Given the description of an element on the screen output the (x, y) to click on. 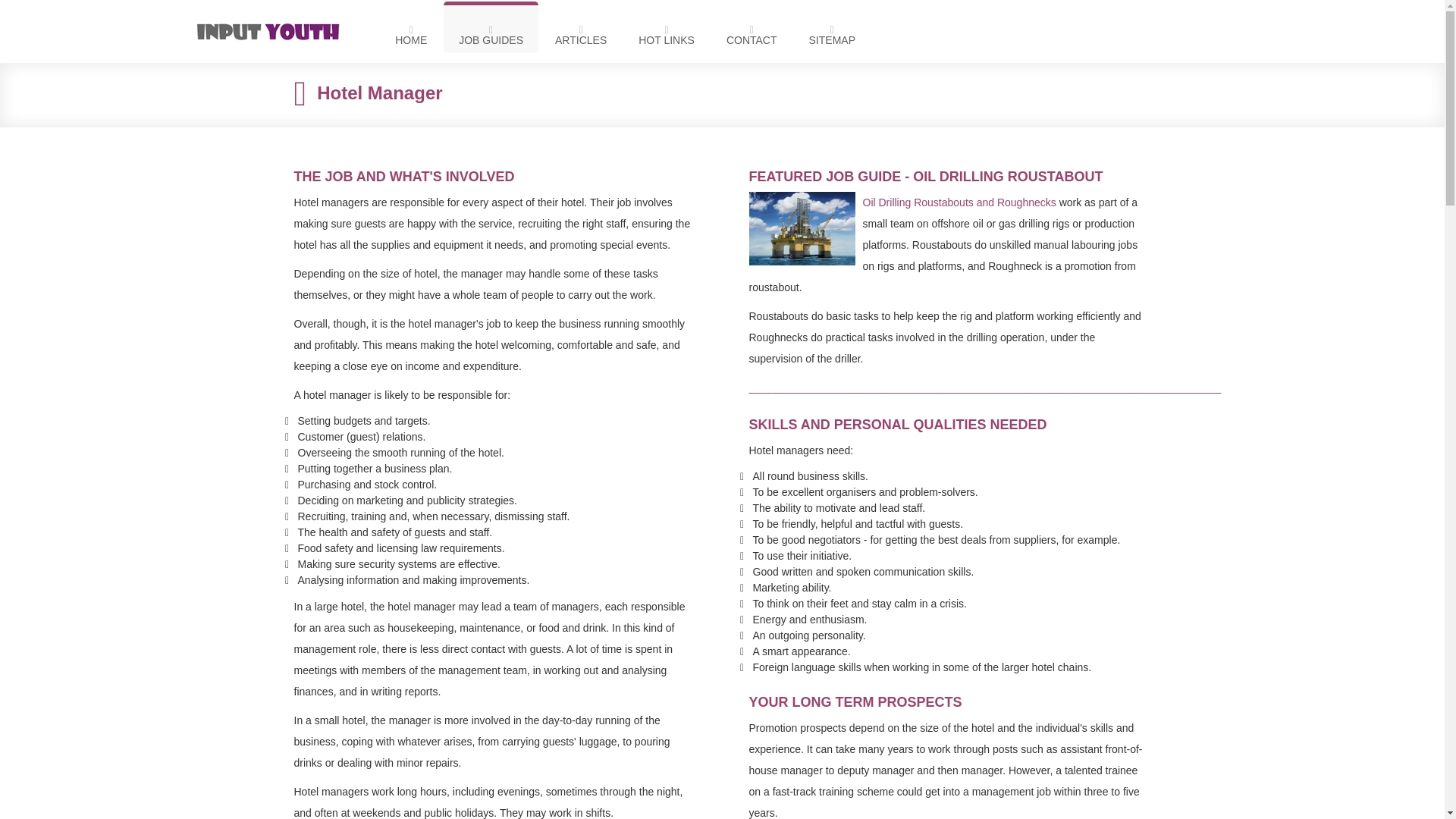
ARTICLES (580, 27)
HOT LINKS (666, 27)
CONTACT (751, 27)
INPUT YOUTH (273, 31)
SITEMAP (831, 27)
JOB GUIDES (491, 27)
HOME (411, 27)
Oil Drilling Roustabout (806, 228)
Oil Drilling Roustabouts and Roughnecks (545, 202)
